Given the description of an element on the screen output the (x, y) to click on. 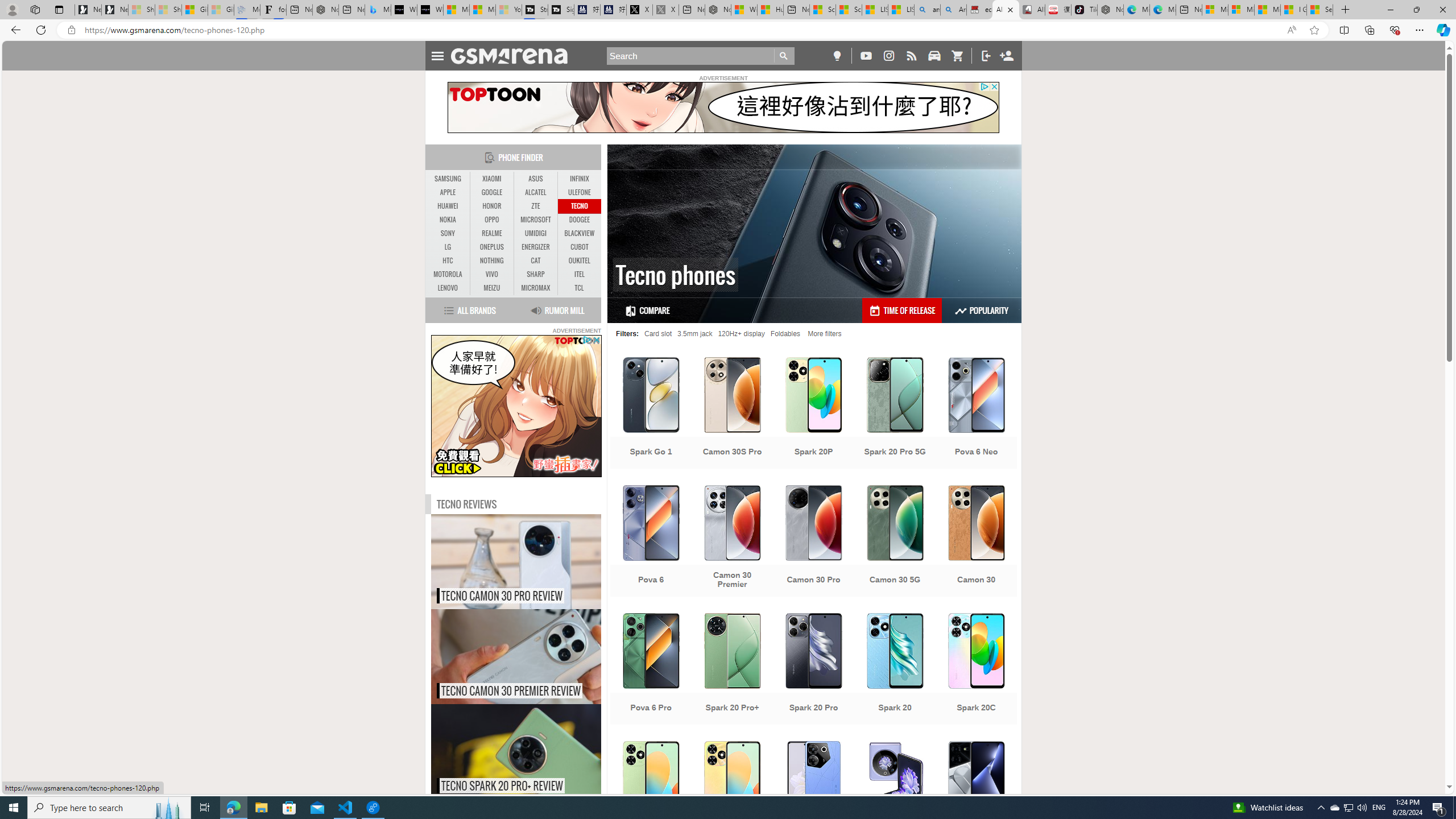
Nordace - My Account (717, 9)
ASUS (535, 178)
Spark 20 (895, 670)
MICROMAX (535, 287)
MOTOROLA (448, 273)
LG (448, 246)
NOTHING (491, 260)
Tecno Camon 30 Pro review (539, 561)
SONY (448, 233)
CAT (535, 260)
XIAOMI (491, 178)
CUBOT (579, 246)
